Given the description of an element on the screen output the (x, y) to click on. 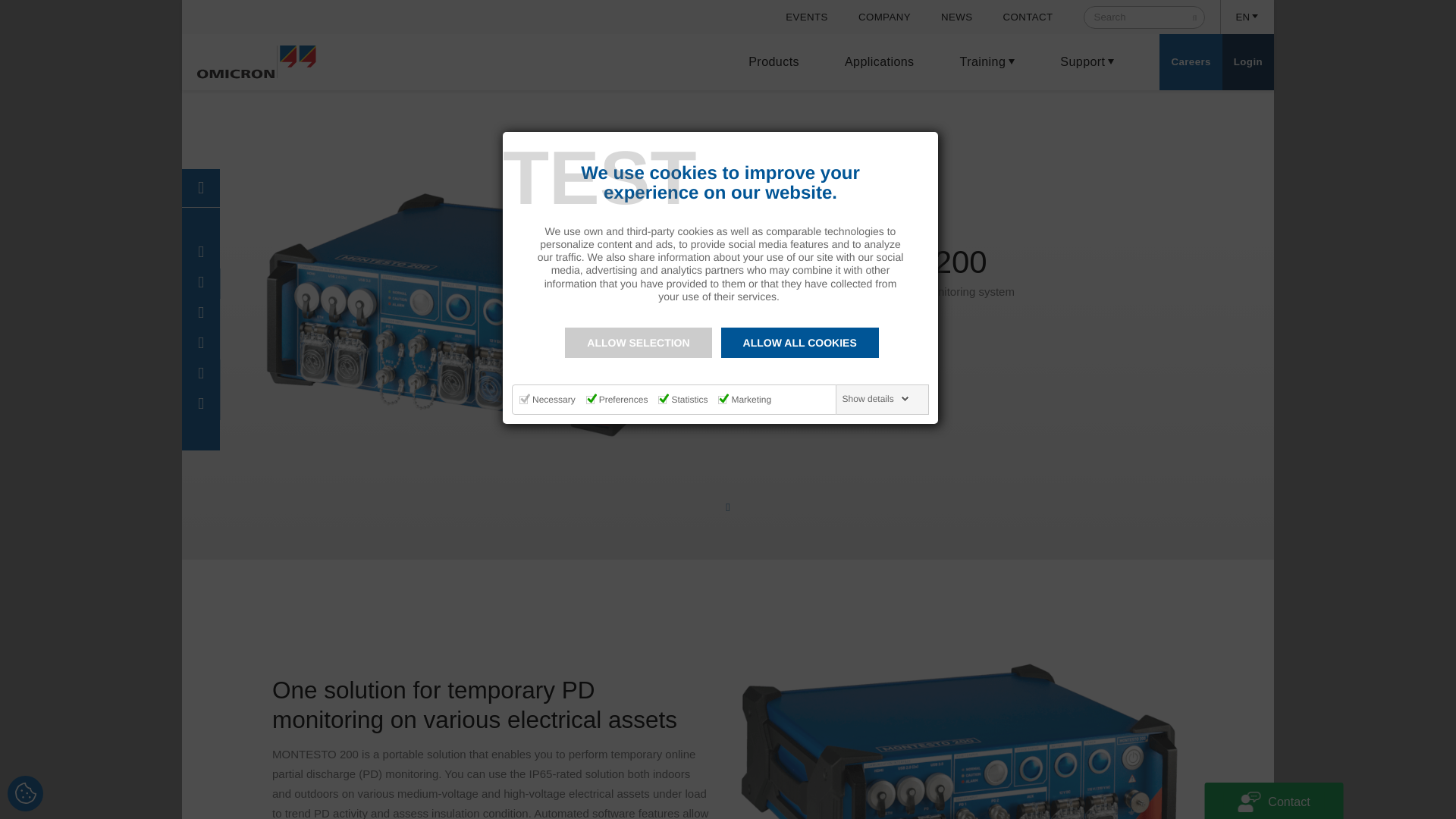
ALLOW SELECTION (637, 342)
ALLOW ALL COOKIES (799, 342)
Show details (876, 398)
